Given the description of an element on the screen output the (x, y) to click on. 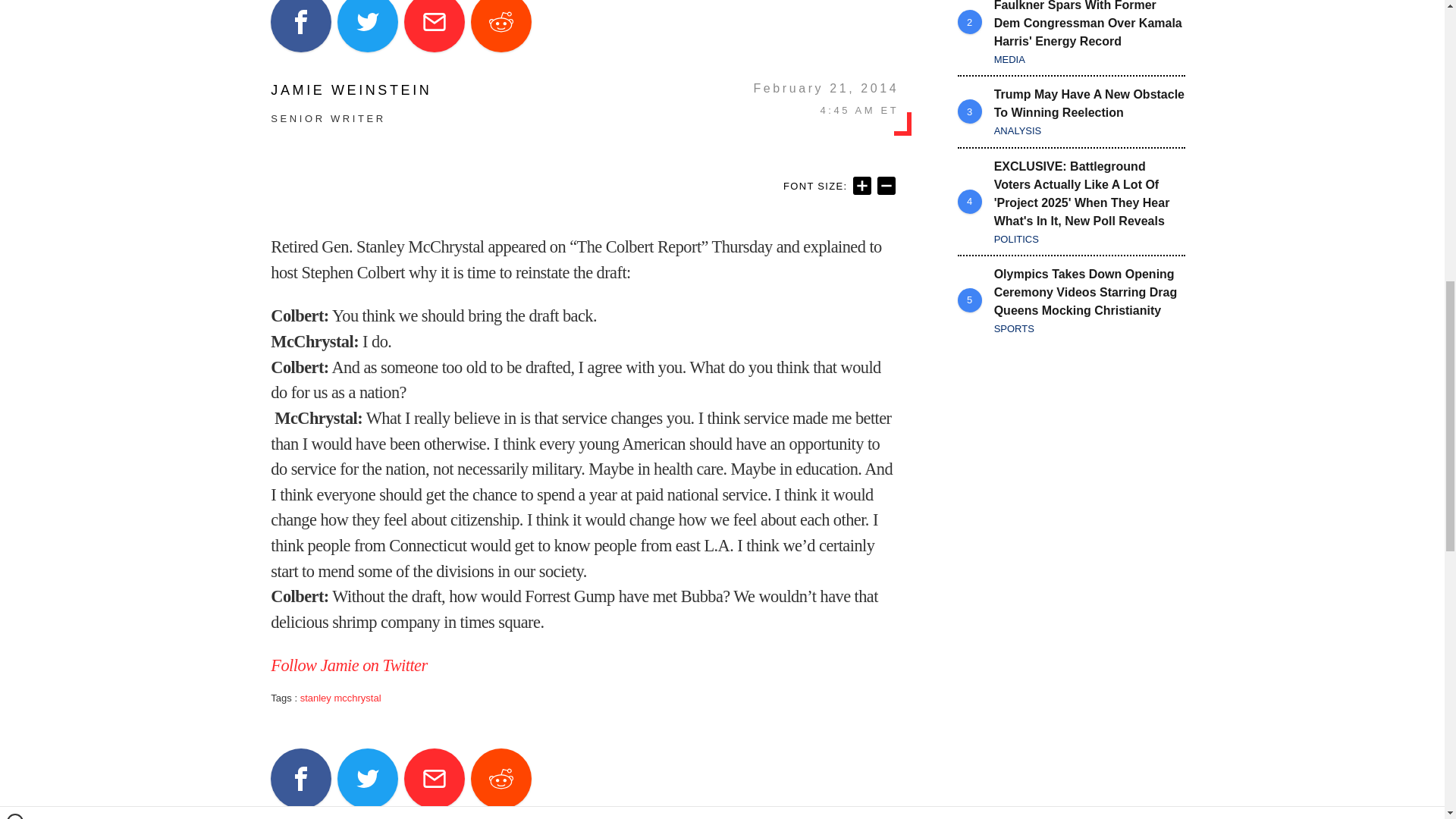
JAMIE WEINSTEIN (350, 90)
View More Articles By Jamie Weinstein (350, 90)
Follow Jamie on Twitter (348, 665)
Close window (14, 6)
stanley mcchrystal (340, 697)
